Given the description of an element on the screen output the (x, y) to click on. 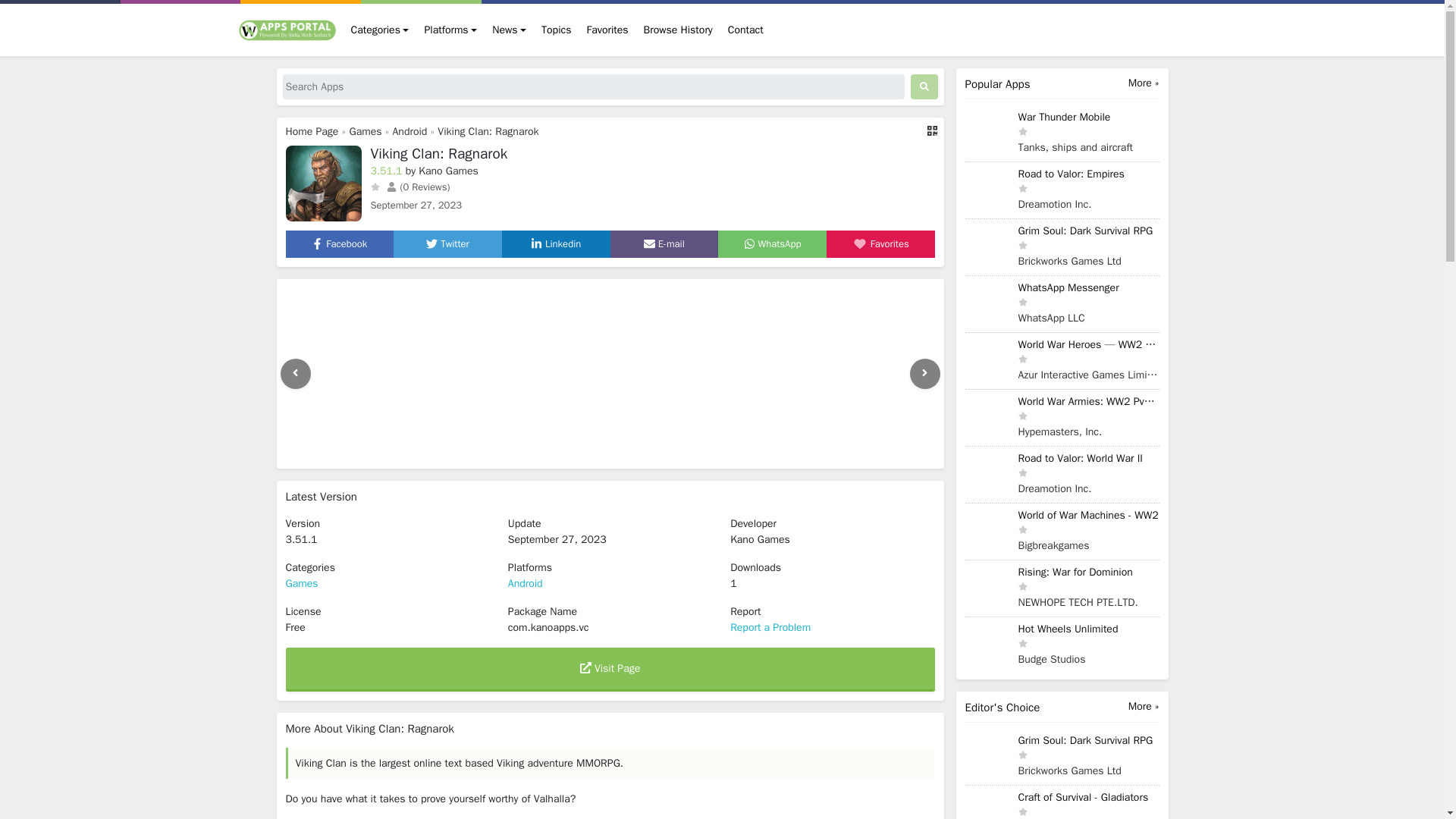
Android (410, 131)
Viking Clan: Ragnarok (488, 131)
Games (365, 131)
Platforms (450, 29)
Contact (746, 29)
Home Page (311, 131)
Linkedin (555, 243)
Favorites (607, 29)
Categories (378, 29)
Twitter (447, 243)
Facebook (338, 243)
Topics (555, 29)
Browse History (678, 29)
News (509, 29)
